Given the description of an element on the screen output the (x, y) to click on. 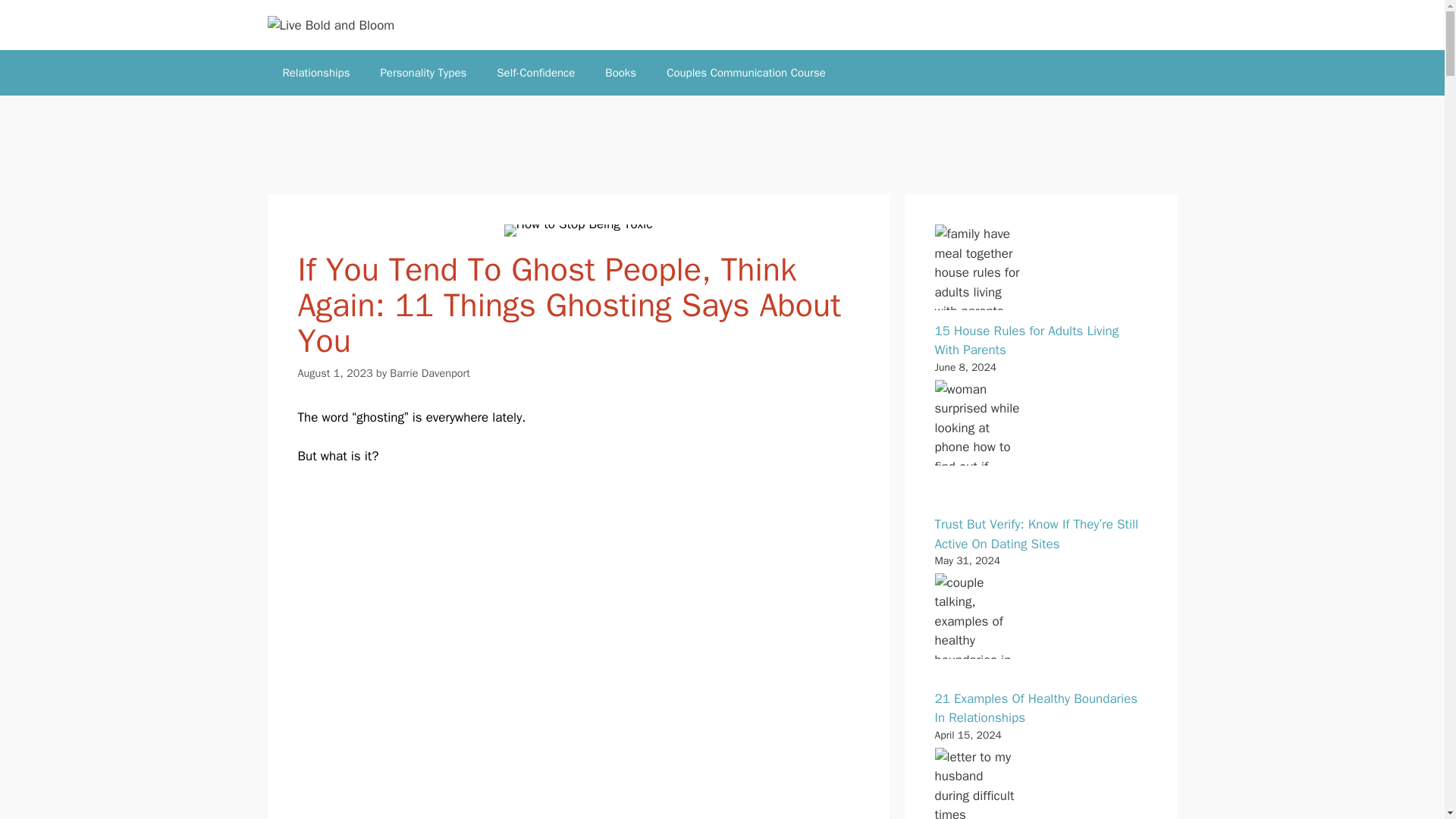
Personality Types (423, 72)
Couples Communication Course (745, 72)
Relationships (315, 72)
Self-Confidence (535, 72)
View all posts by Barrie Davenport (430, 373)
Books (619, 72)
Barrie Davenport (430, 373)
